Given the description of an element on the screen output the (x, y) to click on. 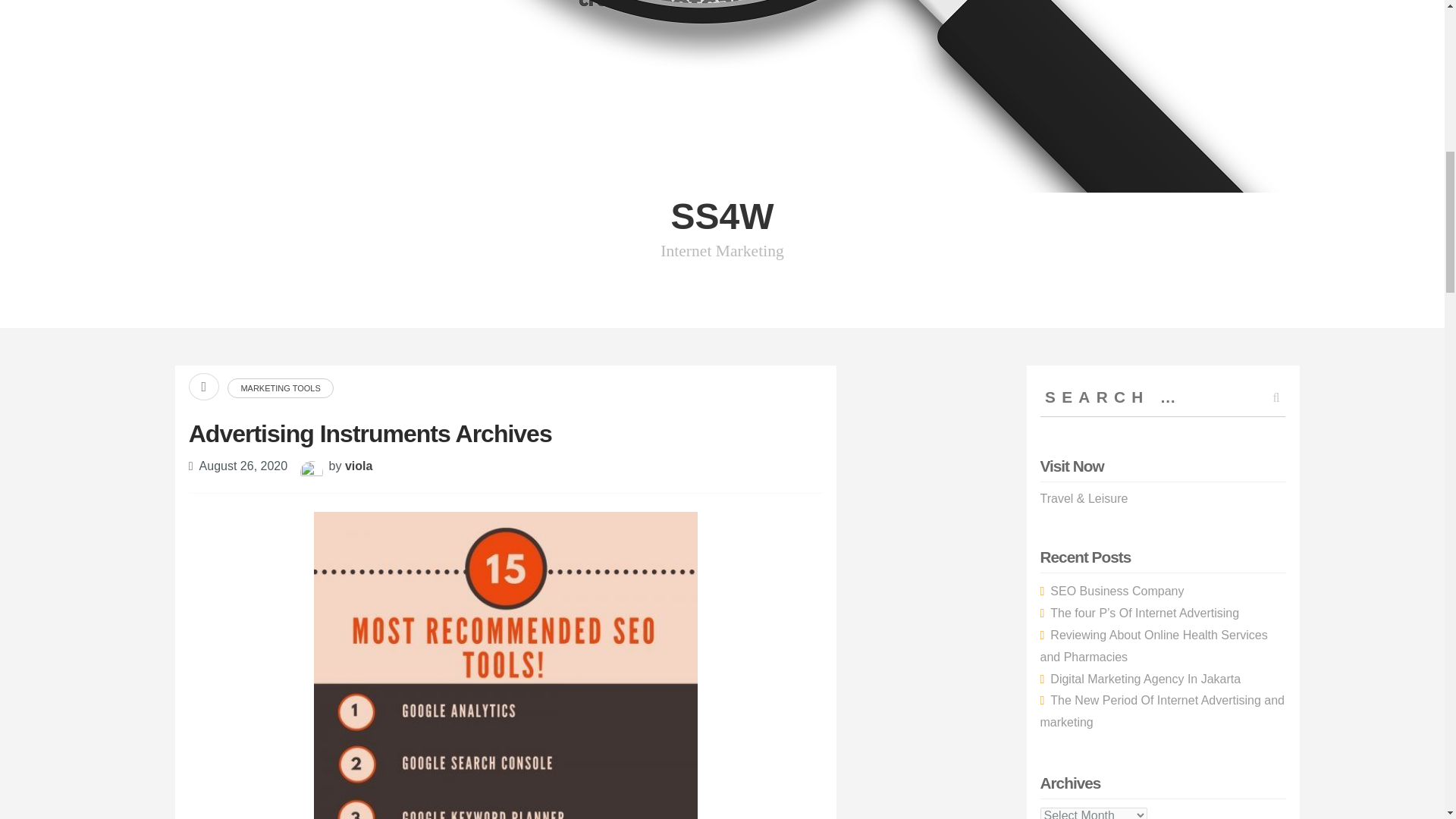
Posts by viola (358, 465)
MARKETING TOOLS (280, 388)
viola (358, 465)
